Given the description of an element on the screen output the (x, y) to click on. 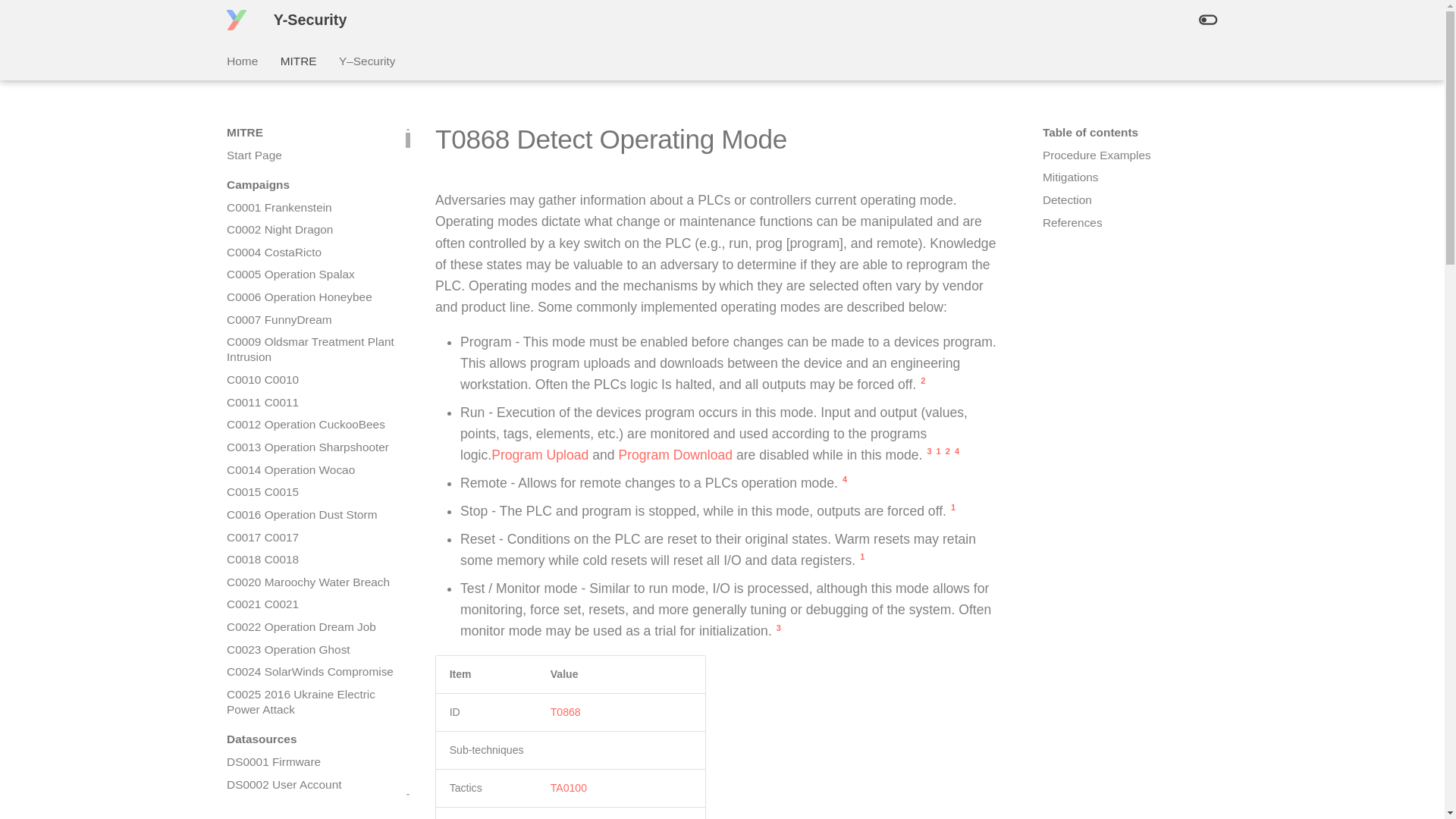
C0020 Maroochy Water Breach (310, 581)
C0011 C0011 (310, 402)
C0007 FunnyDream (310, 319)
DS0003 Scheduled Job (310, 806)
C0014 Operation Wocao (310, 469)
C0024 SolarWinds Compromise (310, 671)
Switch to dark mode (1207, 19)
C0006 Operation Honeybee (310, 296)
C0023 Operation Ghost (310, 649)
C0001 Frankenstein (310, 207)
